Given the description of an element on the screen output the (x, y) to click on. 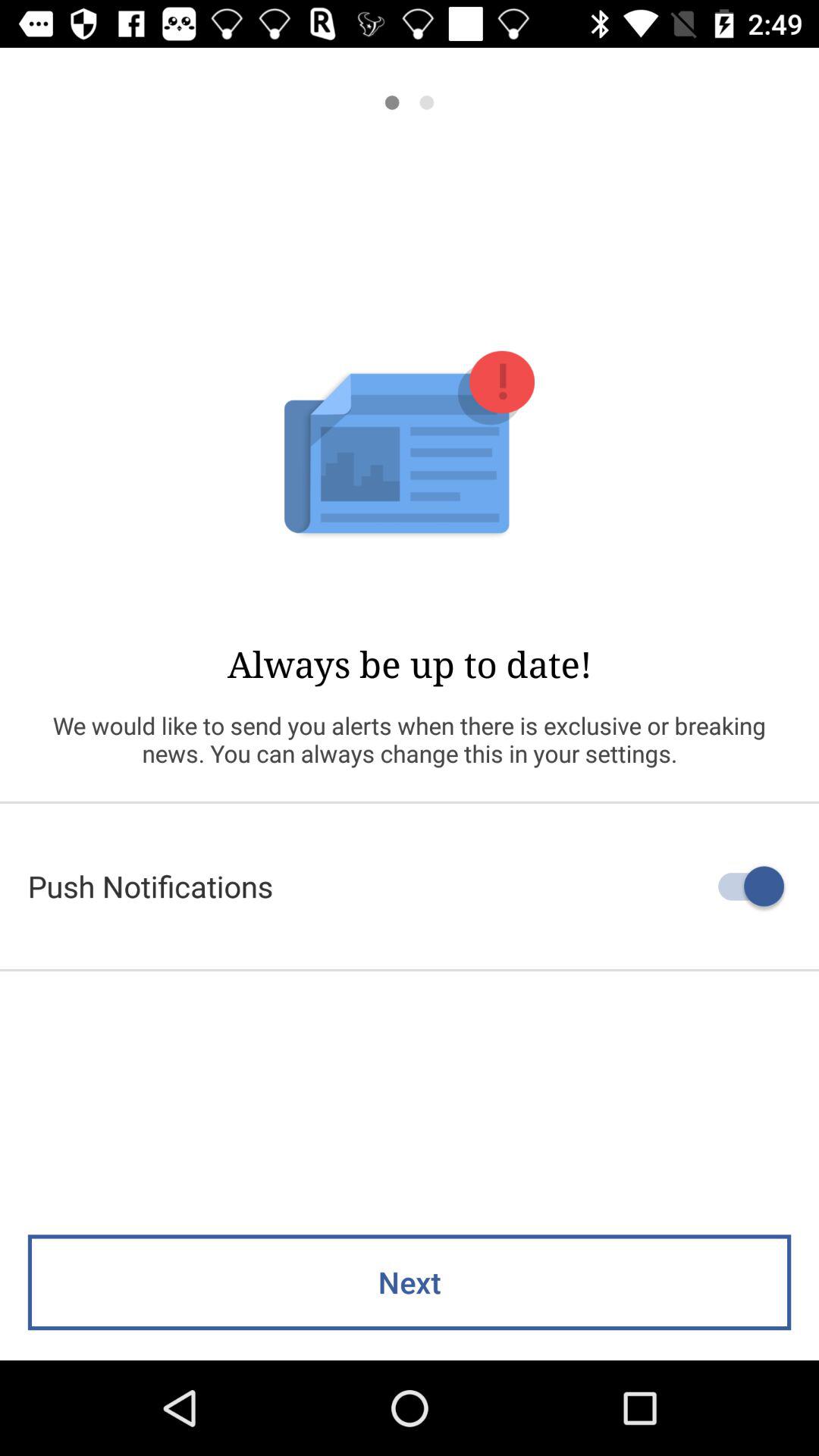
turn on next (409, 1282)
